Given the description of an element on the screen output the (x, y) to click on. 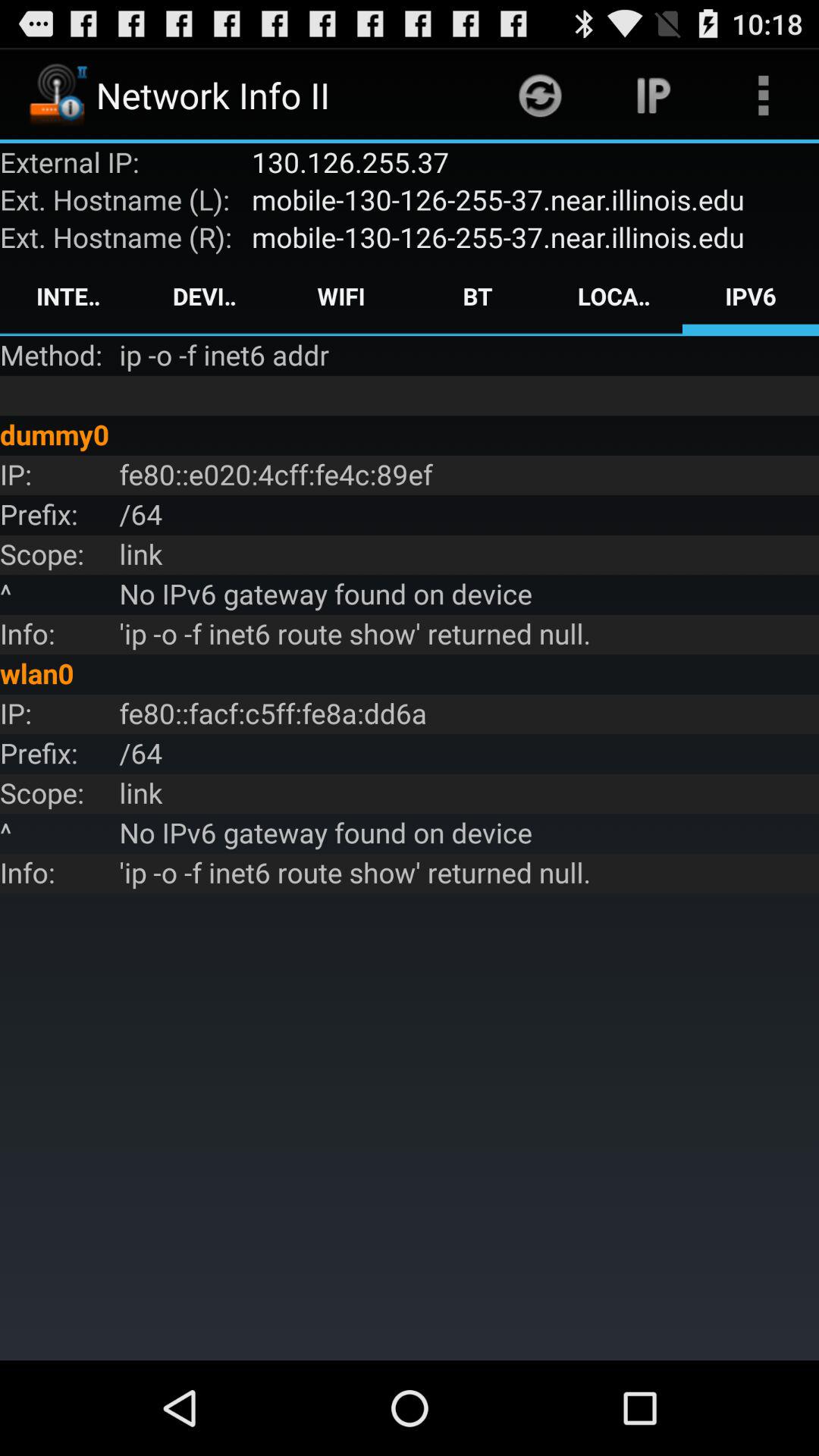
choose the icon to the right of the device item (341, 295)
